Given the description of an element on the screen output the (x, y) to click on. 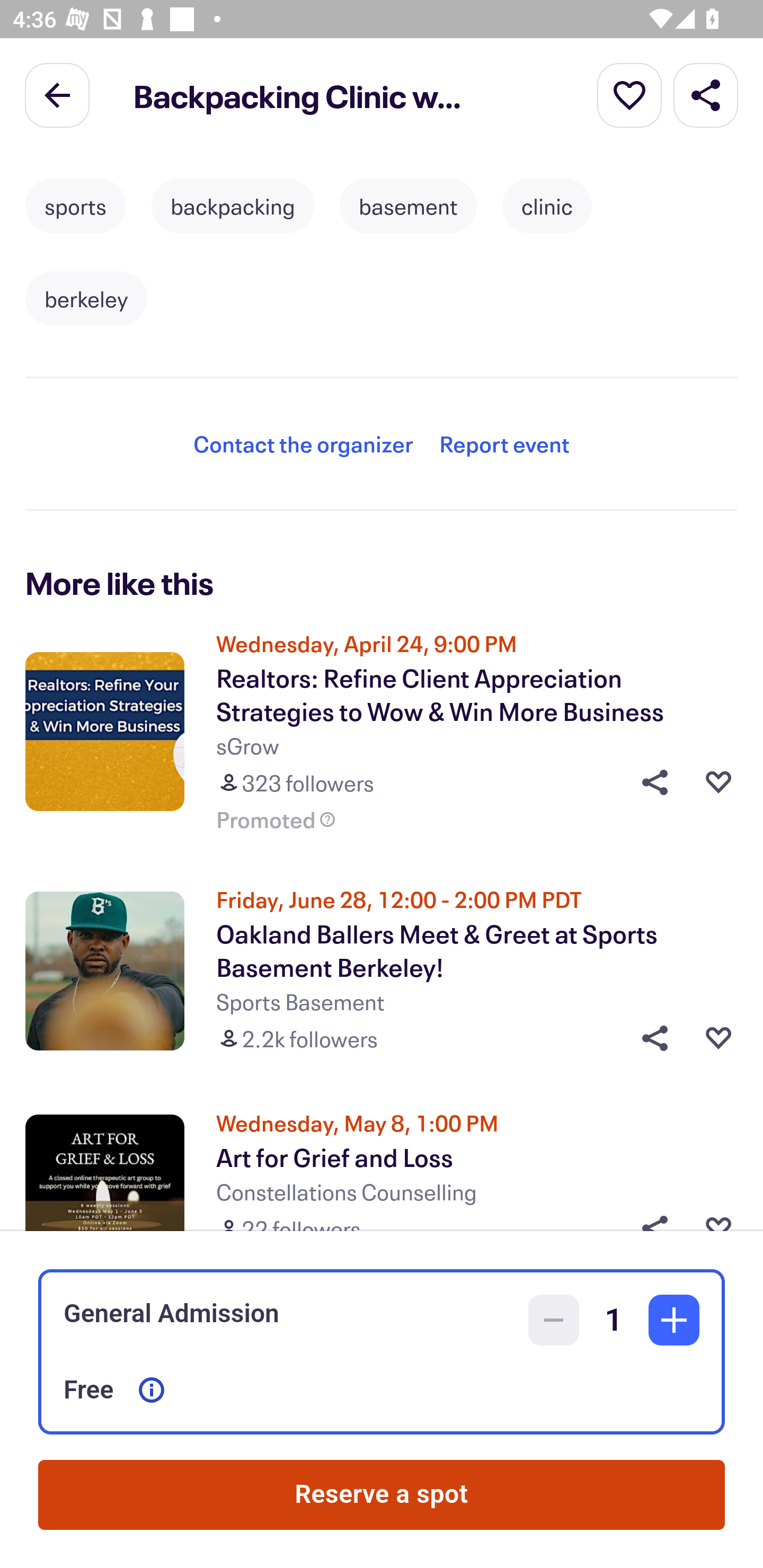
Back (57, 94)
More (629, 94)
Share (705, 94)
sports (75, 205)
backpacking (232, 205)
basement (407, 205)
clinic (547, 205)
berkeley (86, 298)
Contact the organizer (303, 443)
Report event (504, 443)
Share (648, 782)
Like (718, 782)
Share (648, 1037)
Like (718, 1037)
Decrease (553, 1320)
Increase (673, 1320)
Show more information (151, 1389)
Reserve a spot (381, 1494)
